Given the description of an element on the screen output the (x, y) to click on. 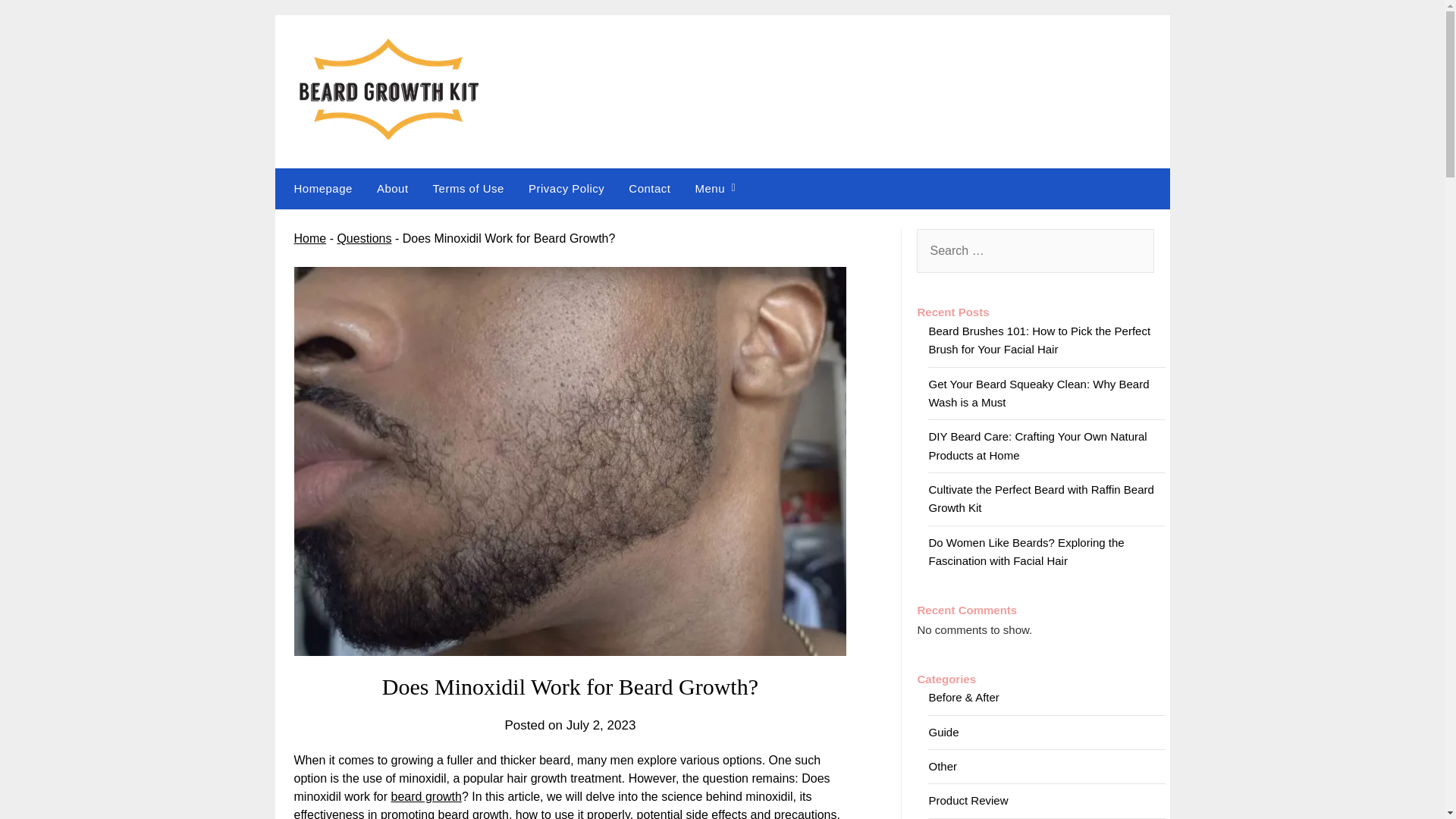
Search (38, 22)
Contact (648, 188)
Privacy Policy (565, 188)
Questions (363, 237)
Home (310, 237)
beard growth (426, 796)
Menu (710, 188)
Homepage (319, 188)
Terms of Use (468, 188)
About (392, 188)
